Given the description of an element on the screen output the (x, y) to click on. 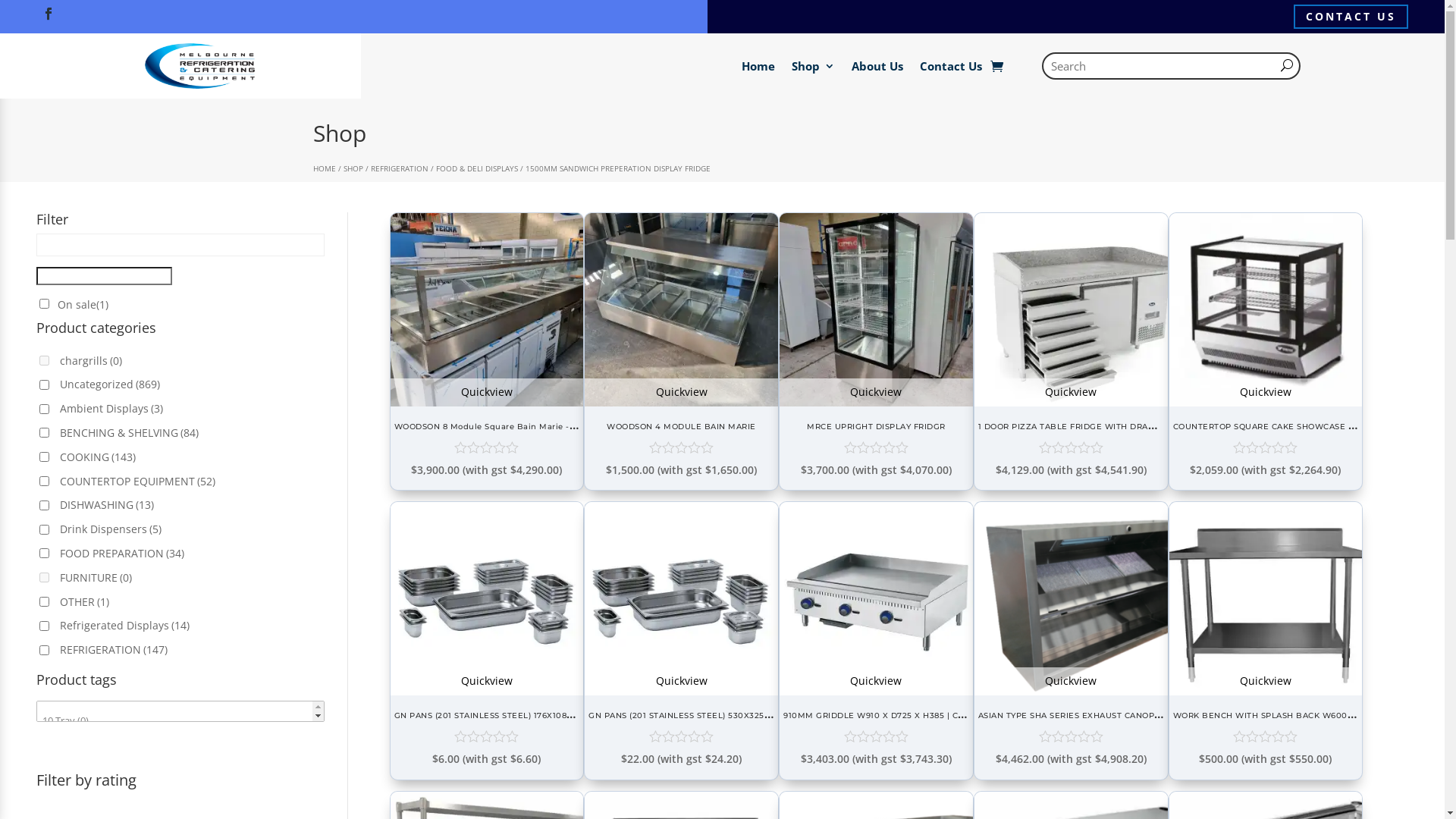
CONTACT US Element type: text (1350, 16)
SHOP Element type: text (352, 168)
Quickview Element type: text (1265, 392)
GN PANS (201 STAINLESS STEEL) 176X108X65|MIXRITE 19065 Element type: hover (486, 691)
910MM GRIDDLE W910 X D725 X H385 | COOKRITE 1 ATMG-36-LPG Element type: hover (875, 691)
WOODSON 4 MODULE BAIN MARIE Element type: text (681, 426)
WORK BENCH WITH SPLASH BACK W600 X D600 X H900 WTS606B Element type: hover (1265, 691)
Quickview Element type: text (875, 392)
Home Element type: text (758, 65)
MRCE UPRIGHT DISPLAY FRIDGR Element type: hover (875, 402)
HOME Element type: text (323, 168)
Quickview Element type: text (875, 681)
Follow on Facebook Element type: hover (48, 13)
Quickview Element type: text (1265, 681)
COUNTERTOP SQUARE CAKE SHOWCASE 900 MM FRIDGE TF160L Element type: hover (1265, 402)
Quickview Element type: text (486, 681)
ASIAN TYPE SHA SERIES EXHAUST CANOPY 2400 X 1150 SHA2400 Element type: hover (1070, 691)
Contact Us Element type: text (950, 65)
COUNTERTOP SQUARE CAKE SHOWCASE 900 MM FRIDGE TF160L Element type: text (1311, 424)
Quickview Element type: text (681, 681)
Quickview Element type: text (1070, 681)
Shop Element type: text (812, 65)
GN PANS (201 STAINLESS STEEL) 176X108X65|MIXRITE 19065 Element type: text (520, 713)
ASIAN TYPE SHA SERIES EXHAUST CANOPY 2400 X 1150 SHA2400 Element type: text (1116, 713)
WOODSON 4 MODULE BAIN MARIE Element type: hover (681, 402)
REFRIGERATION Element type: text (398, 168)
FOOD & DELI DISPLAYS Element type: text (476, 168)
Quickview Element type: text (1070, 392)
1 DOOR PIZZA TABLE FRIDGE WITH DRAWERS 1510 MM EPF3490 Element type: hover (1070, 402)
MRCE UPRIGHT DISPLAY FRIDGR Element type: text (875, 426)
GN PANS (201 STAINLESS STEEL) 530X325X65|MIXRITE 11065 Element type: text (715, 713)
GN PANS (201 STAINLESS STEEL) 530X325X65|MIXRITE 11065 Element type: hover (681, 691)
About Us Element type: text (876, 65)
Quickview Element type: text (486, 392)
Quickview Element type: text (681, 392)
910MM GRIDDLE W910 X D725 X H385 | COOKRITE 1 ATMG-36-LPG Element type: text (923, 713)
1 DOOR PIZZA TABLE FRIDGE WITH DRAWERS 1510 MM EPF3490 Element type: text (1115, 424)
